Given the description of an element on the screen output the (x, y) to click on. 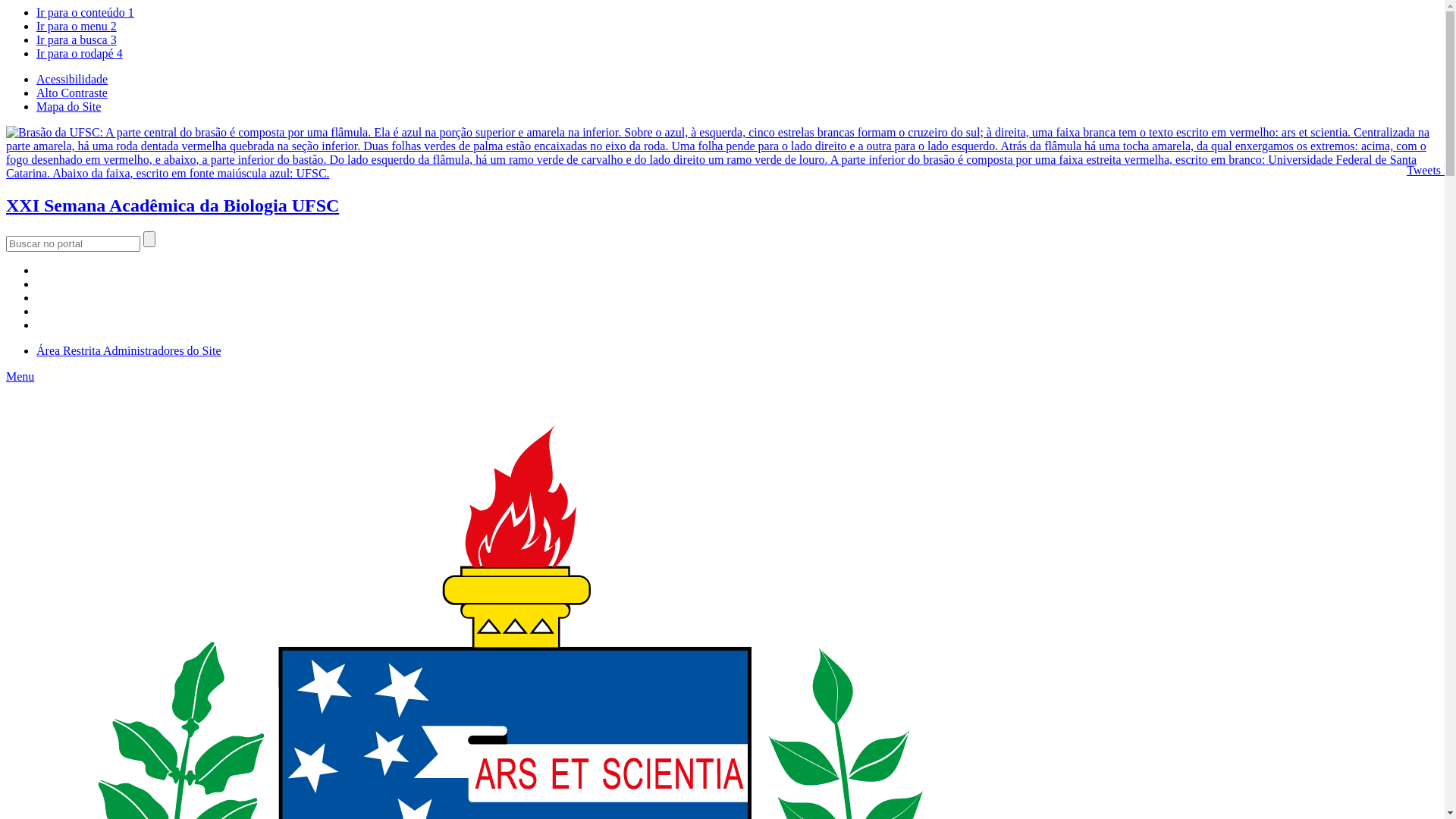
Menu Element type: text (20, 376)
Alto Contraste Element type: text (71, 92)
Mapa do Site Element type: text (68, 106)
Ir para a busca 3 Element type: text (76, 39)
Acessibilidade Element type: text (71, 78)
Administradores do Site Element type: text (162, 350)
Ir para o menu 2 Element type: text (76, 25)
